Given the description of an element on the screen output the (x, y) to click on. 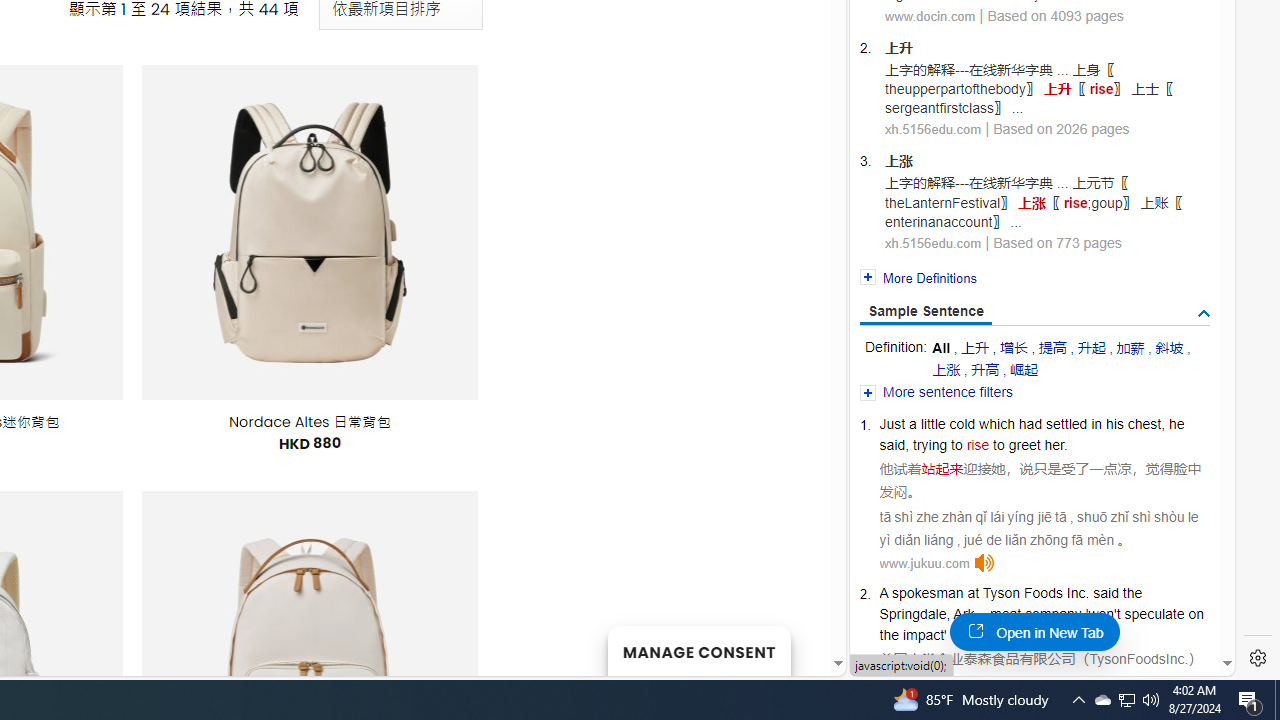
Based on 773 pages (1057, 242)
xh.5156edu.com (932, 243)
Click to listen (984, 563)
said (1105, 592)
